Given the description of an element on the screen output the (x, y) to click on. 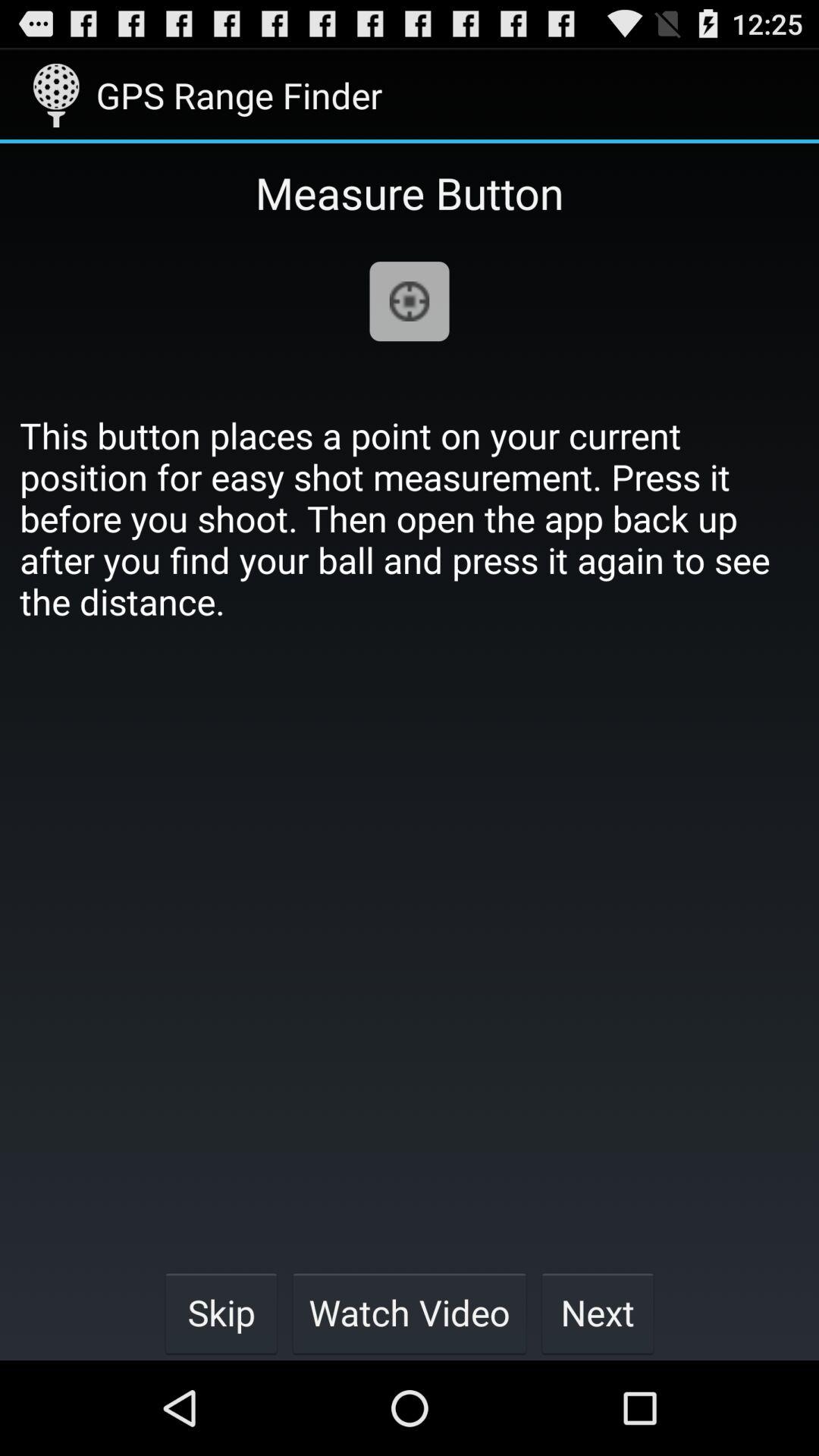
open icon next to watch video icon (597, 1312)
